Given the description of an element on the screen output the (x, y) to click on. 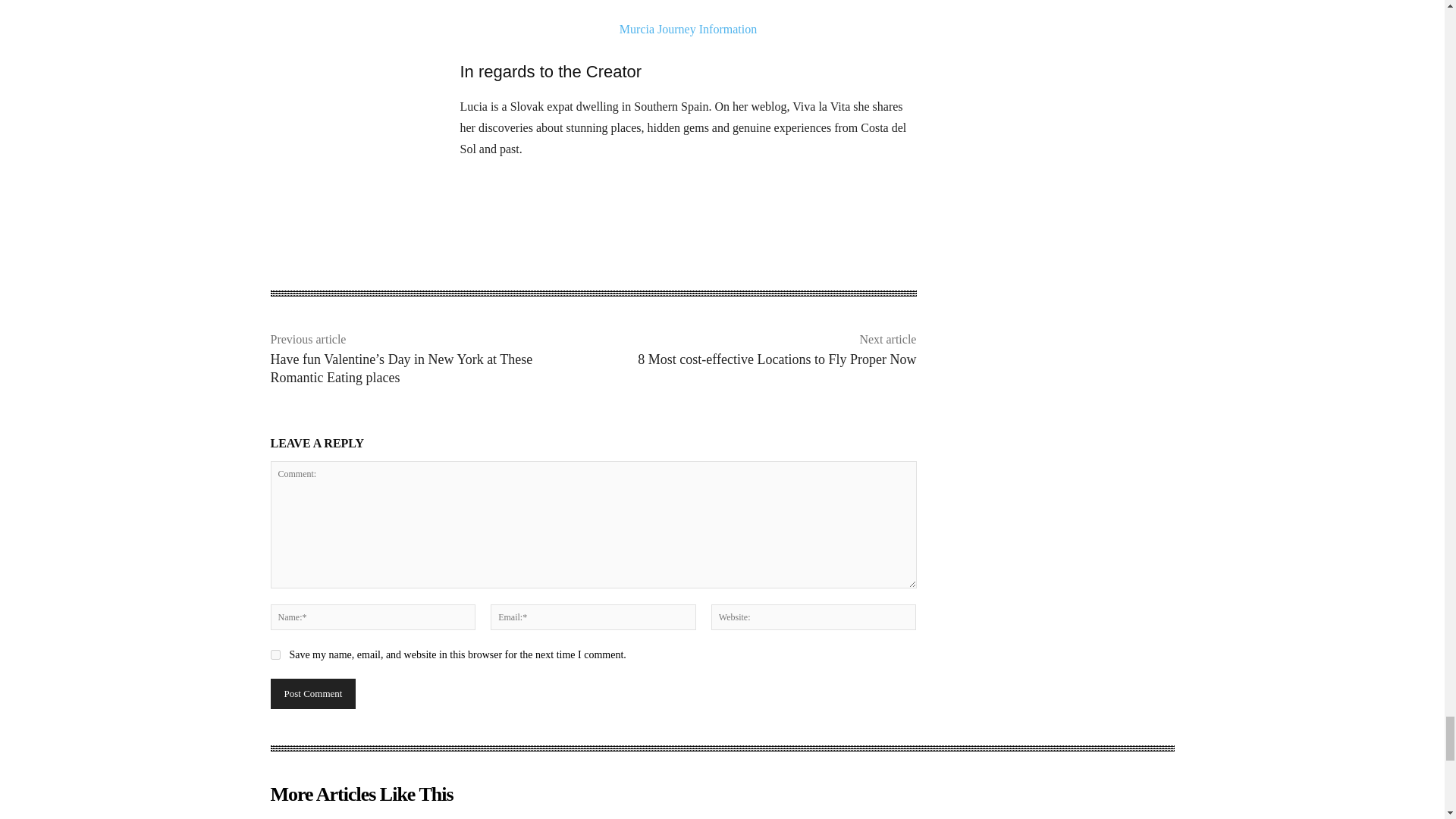
Post Comment (312, 693)
yes (274, 655)
